Given the description of an element on the screen output the (x, y) to click on. 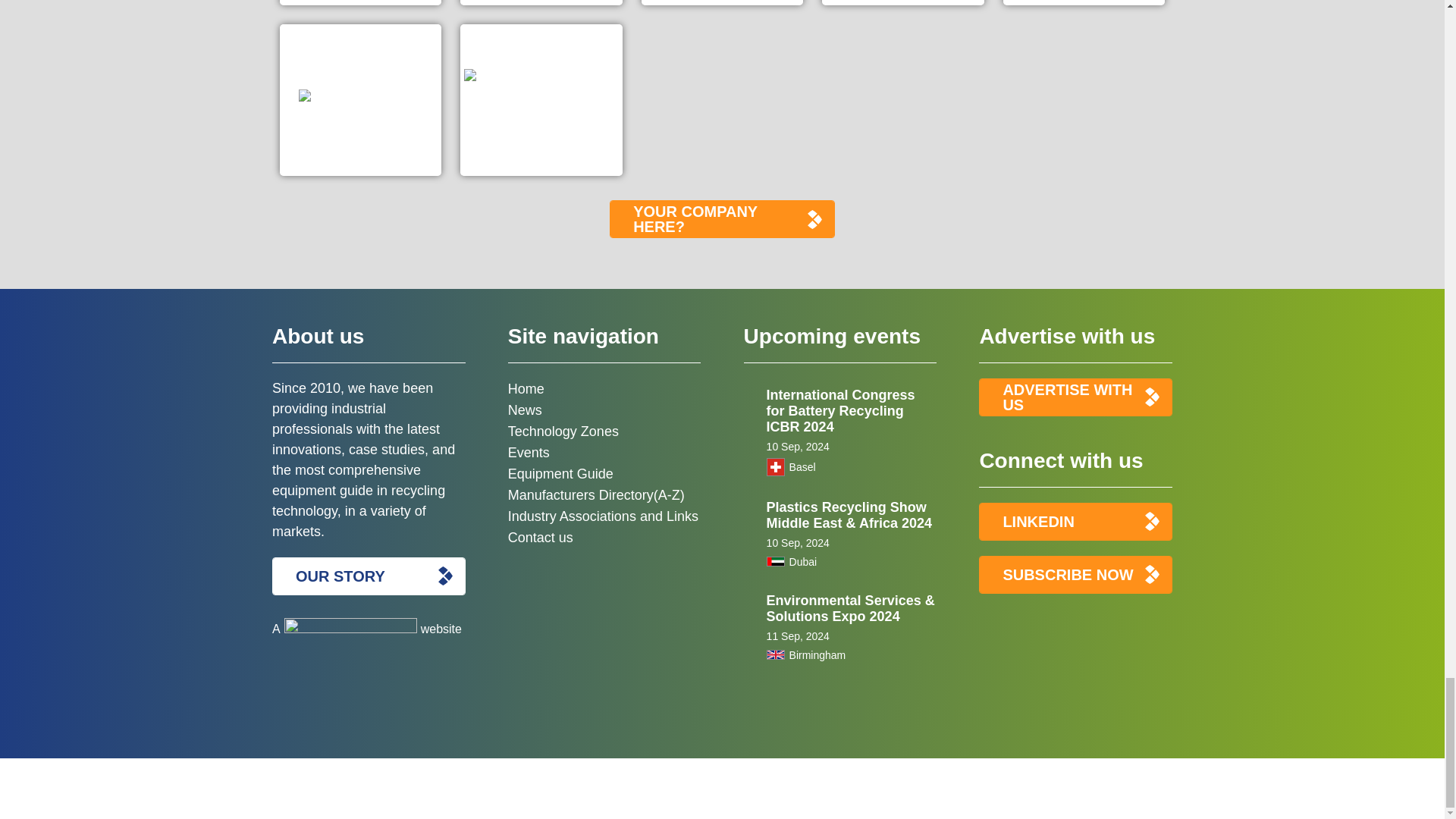
United Arab Emirates (775, 561)
United Kingdom (775, 655)
Switzerland (775, 466)
